Given the description of an element on the screen output the (x, y) to click on. 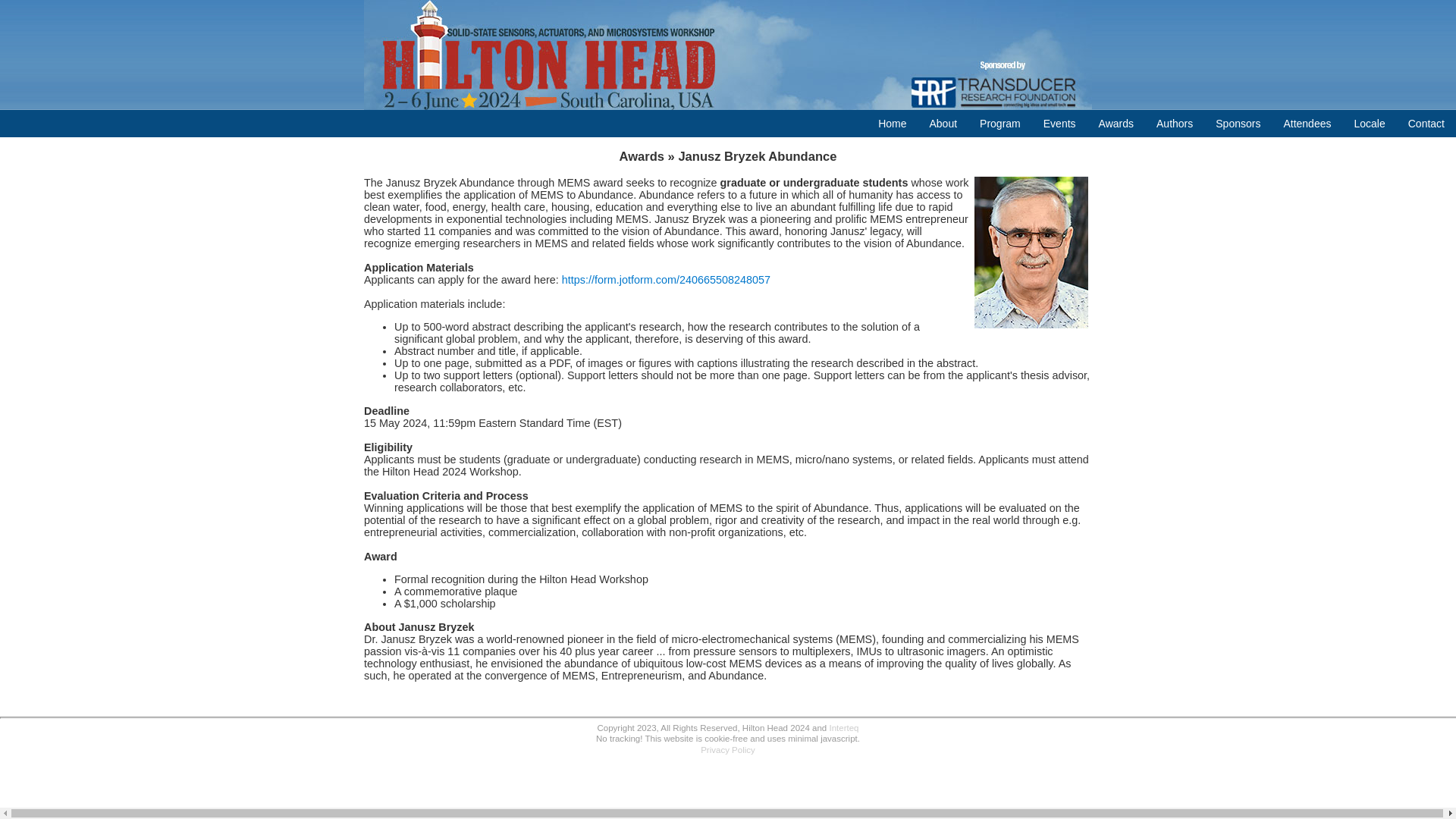
Attendees (1306, 123)
Sponsors (1237, 123)
Awards (1115, 123)
About (942, 123)
Authors (1174, 123)
Events (1059, 123)
Home (891, 123)
Program (1000, 123)
